Given the description of an element on the screen output the (x, y) to click on. 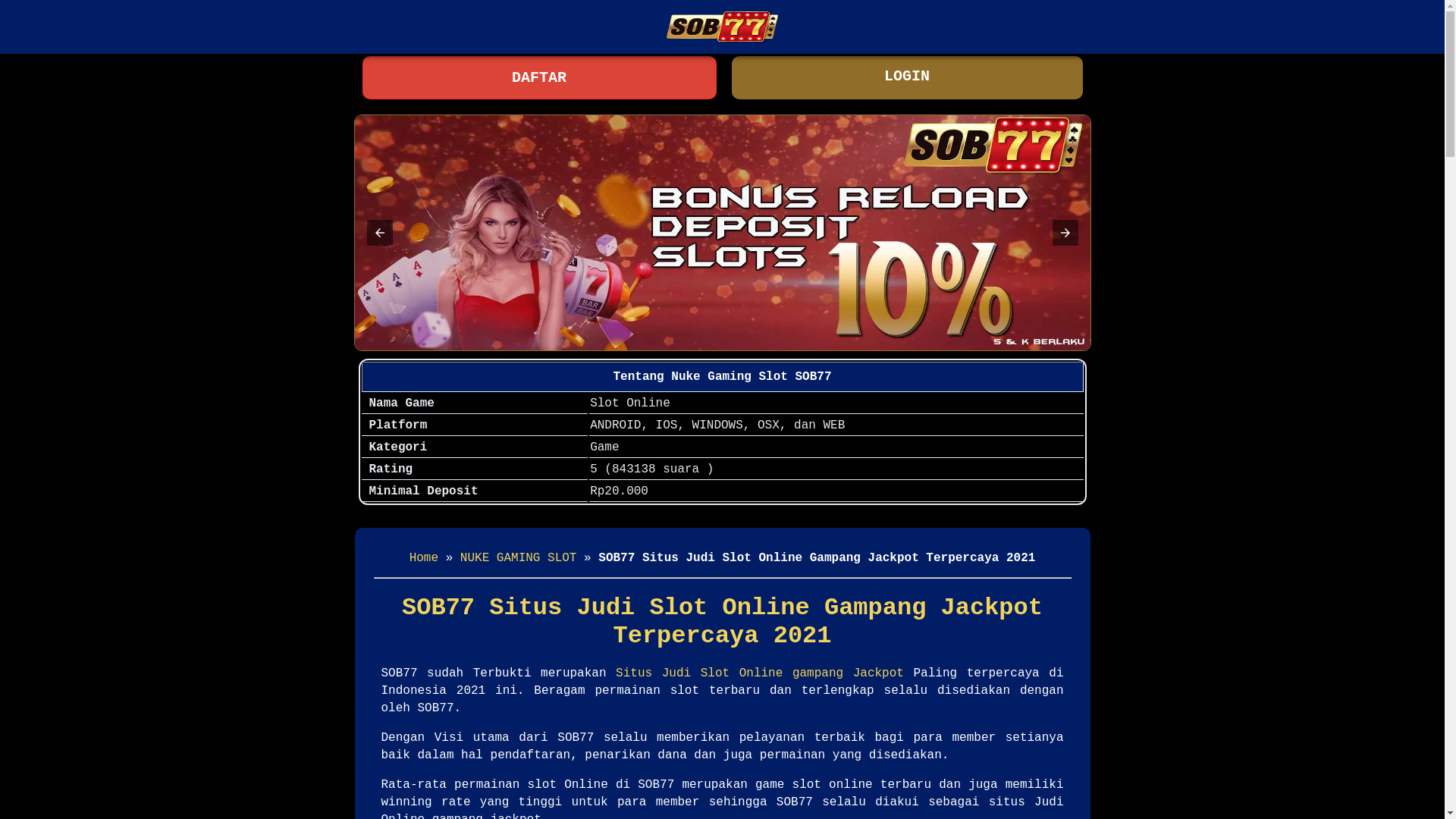
Previous item in carousel (1 of 2) Element type: hover (379, 232)
DAFTAR Element type: text (539, 77)
SOB77 Element type: hover (721, 26)
Next item in carousel (1 of 2) Element type: hover (1065, 232)
LOGIN Element type: text (906, 77)
Home Element type: text (423, 557)
NUKE GAMING SLOT Element type: text (518, 557)
Bonus Reload Deposit Element type: hover (722, 232)
Situs Judi Slot Online gampang Jackpot Element type: text (759, 673)
